Given the description of an element on the screen output the (x, y) to click on. 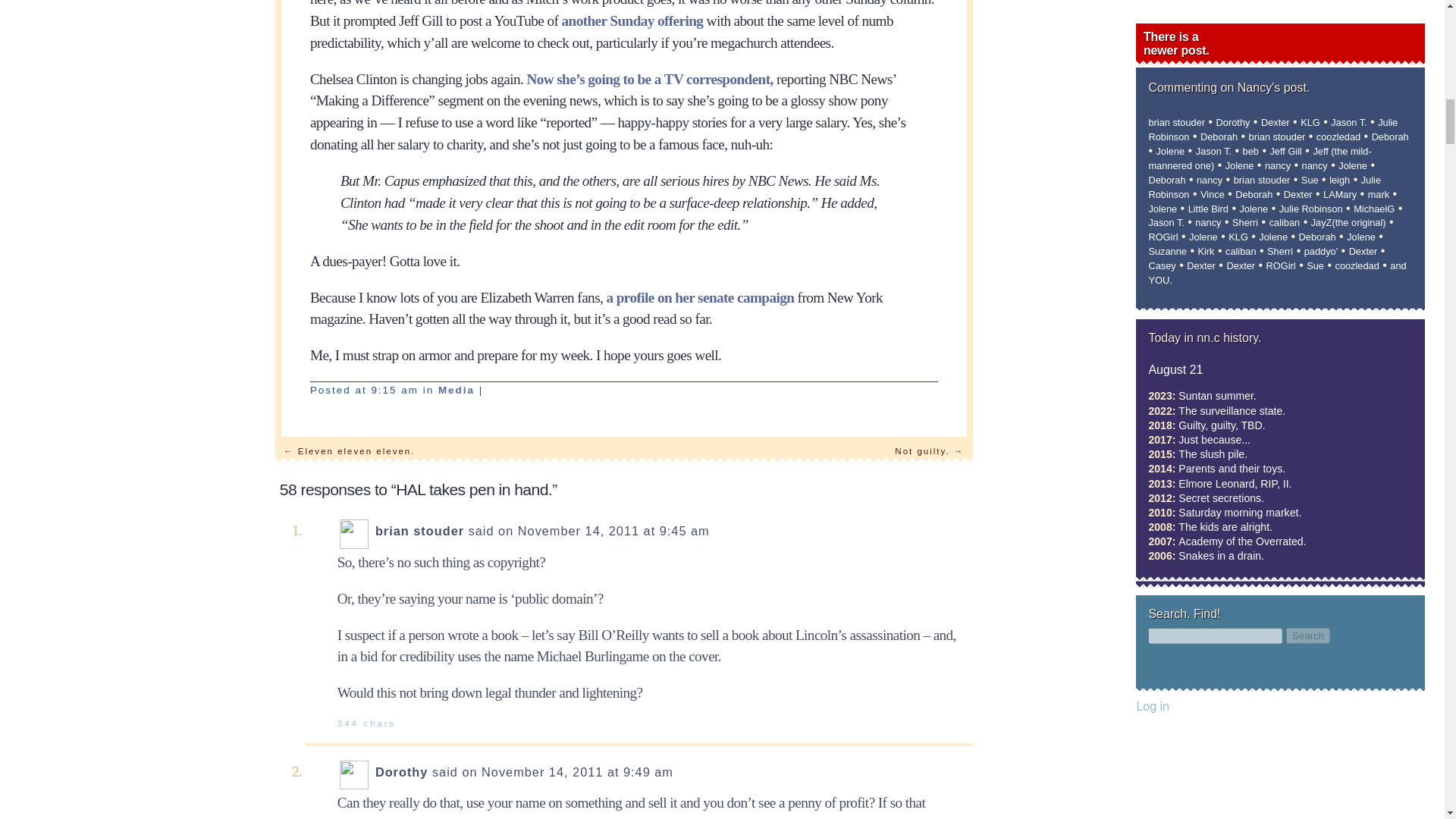
a profile on her senate campaign (699, 297)
another Sunday offering (632, 20)
Media (456, 389)
